Given the description of an element on the screen output the (x, y) to click on. 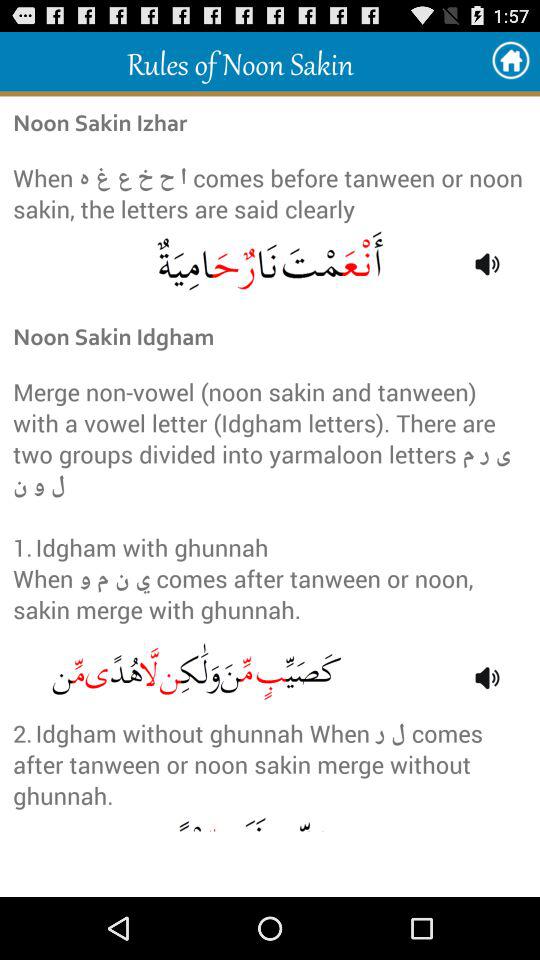
choose item to the right of the rules of noon icon (510, 60)
